Given the description of an element on the screen output the (x, y) to click on. 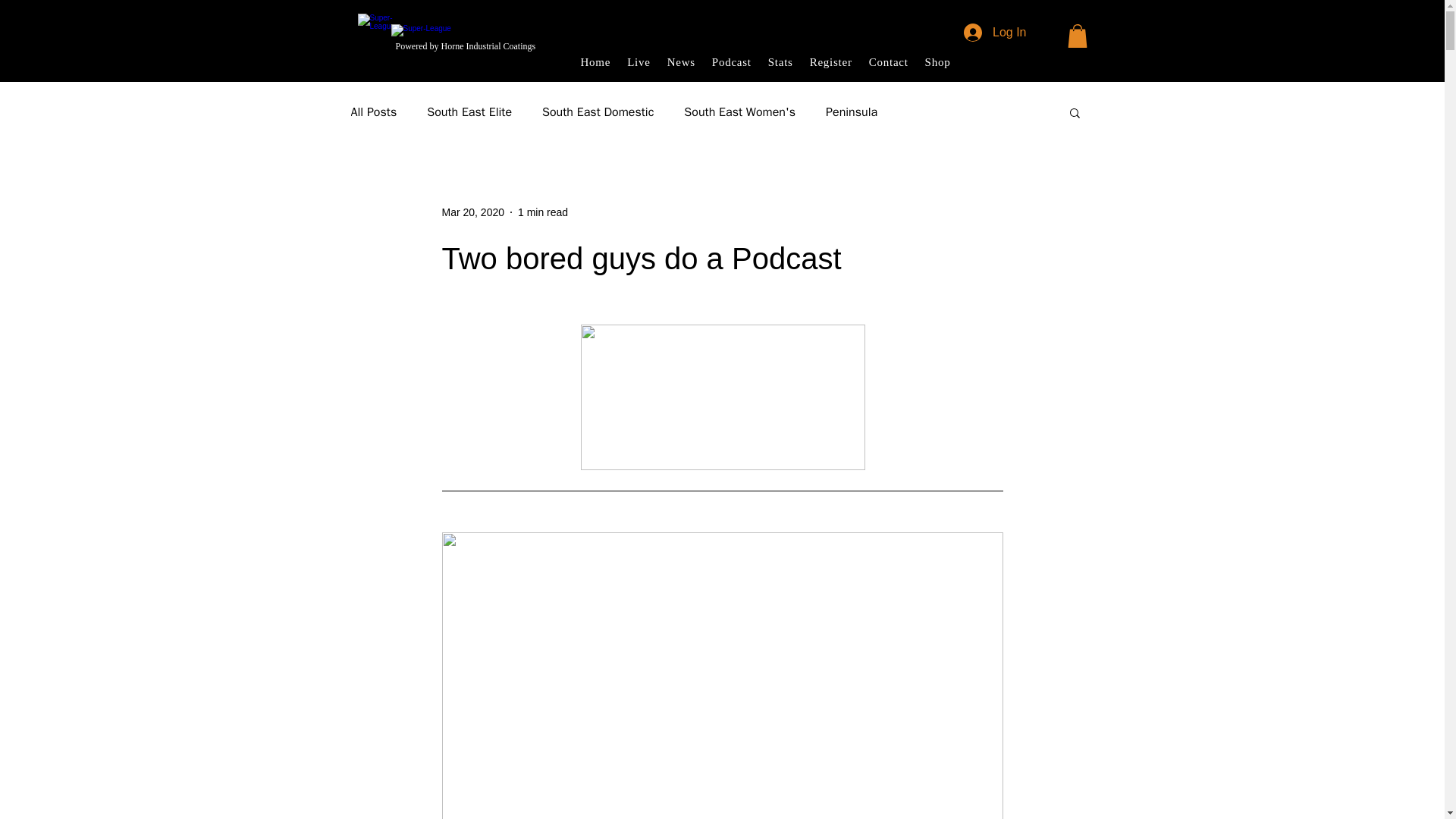
News (681, 61)
Register (831, 61)
Home (595, 61)
Mar 20, 2020 (472, 212)
Live (639, 61)
1 min read (542, 212)
Contact (888, 61)
South East Domestic (597, 112)
South East Women's (739, 112)
All Posts (373, 112)
